Given the description of an element on the screen output the (x, y) to click on. 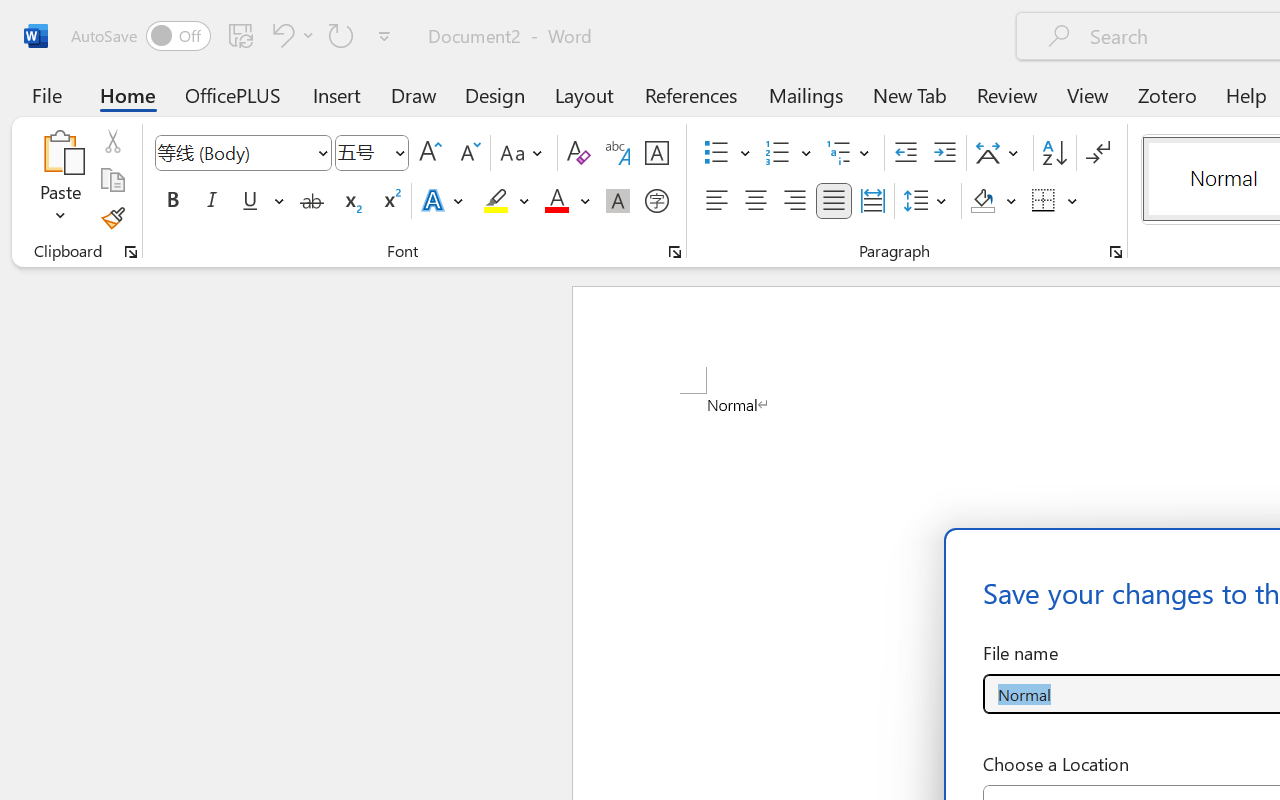
Distributed (872, 201)
AutoSave (140, 35)
Bold (172, 201)
Center (756, 201)
Quick Access Toolbar (233, 36)
Font Color Red (556, 201)
Numbering (778, 153)
Zotero (1166, 94)
Save (241, 35)
Justify (834, 201)
References (690, 94)
Undo Apply Quick Style (290, 35)
Align Right (794, 201)
Font (234, 152)
Text Highlight Color Yellow (495, 201)
